Given the description of an element on the screen output the (x, y) to click on. 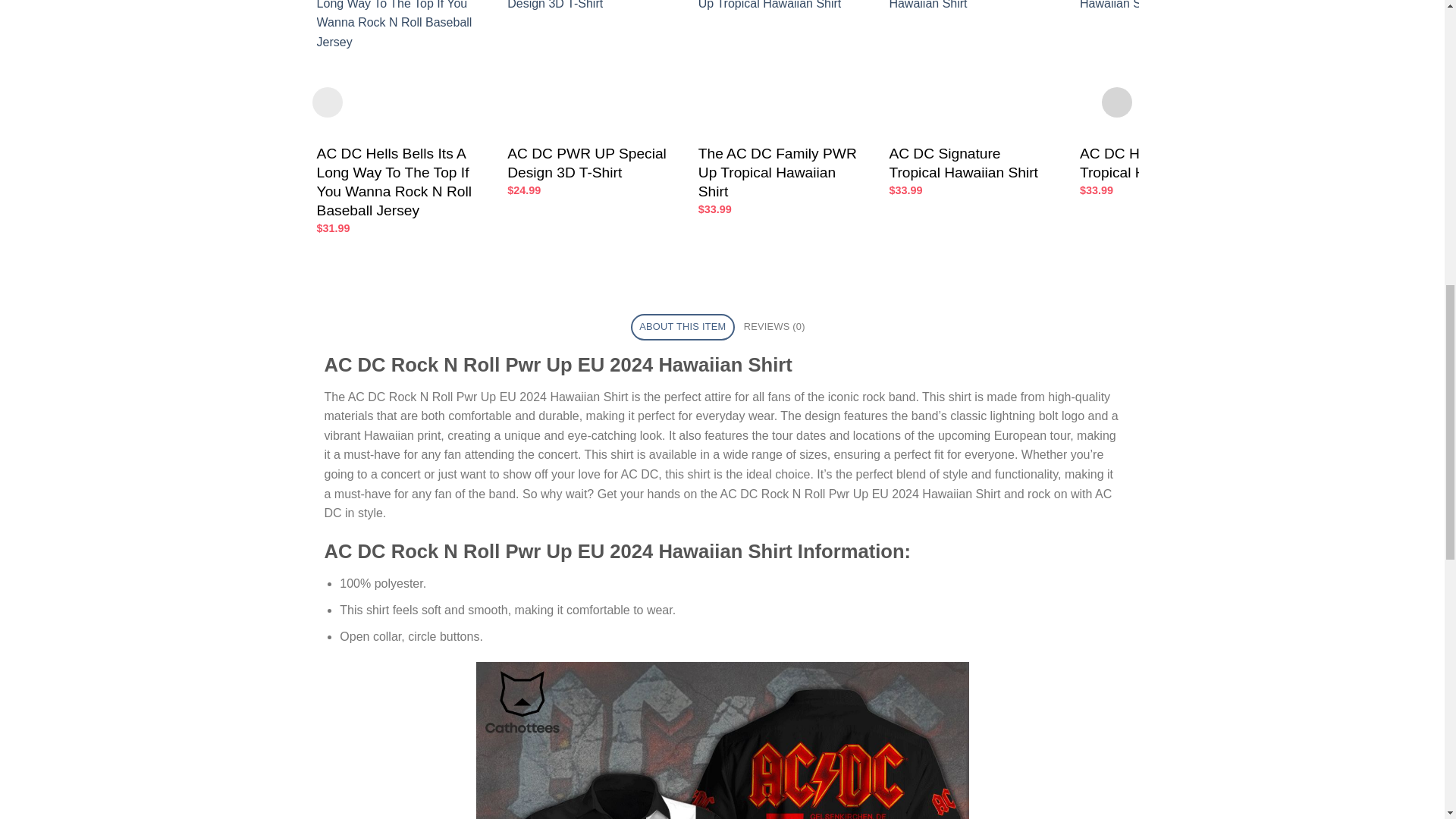
AC DC PWR UP Special Design 3D T-Shirt (587, 163)
The AC DC Family PWR Up Tropical Hawaiian Shirt (778, 172)
